Given the description of an element on the screen output the (x, y) to click on. 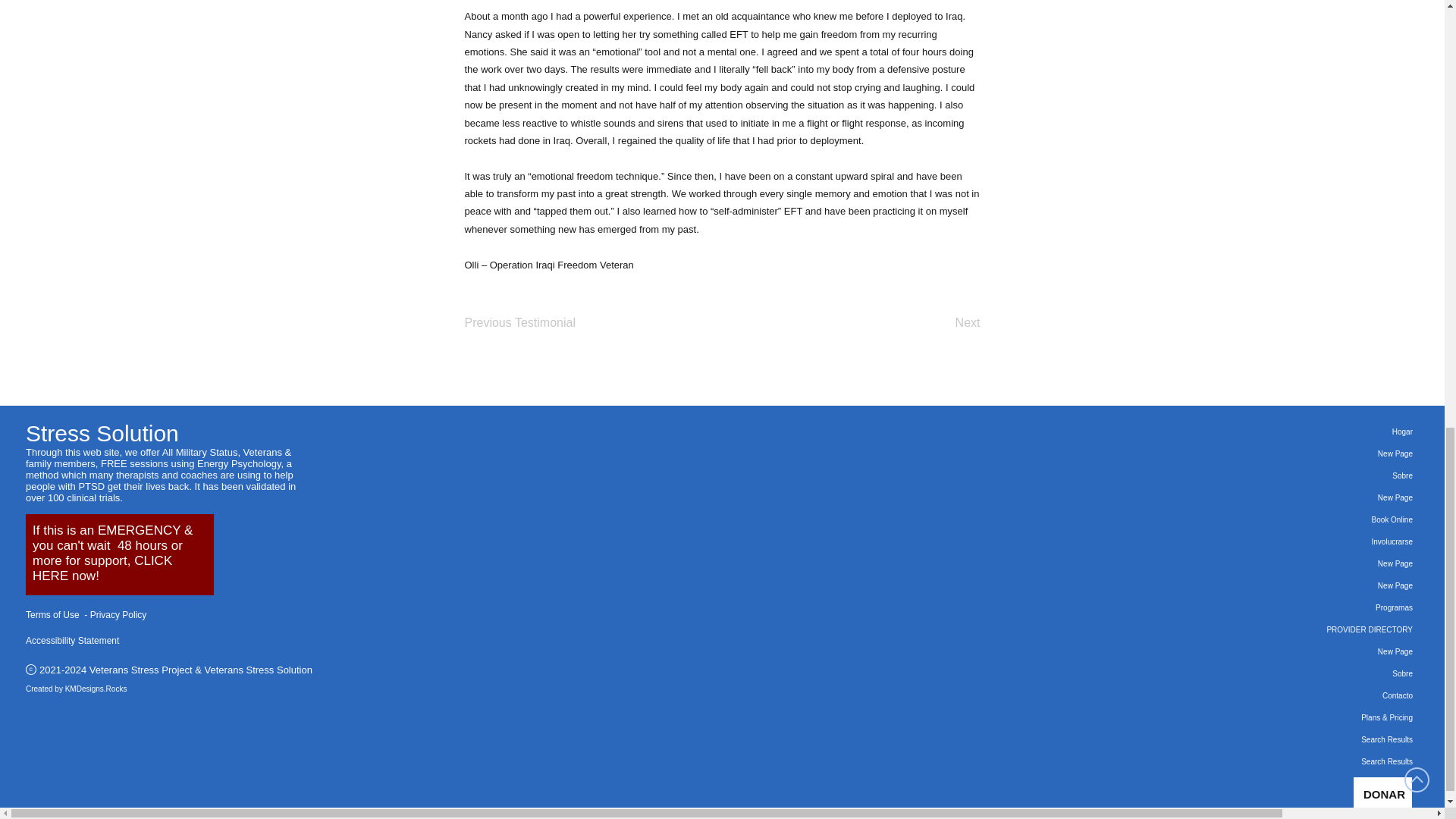
Hogar (1310, 431)
New Page (1310, 497)
Search Results (1310, 762)
New Page (1310, 585)
Contacto (1310, 695)
New Page (1310, 454)
Search Results (1310, 739)
Stress Solution (102, 432)
Sobre (1310, 475)
PROVIDER DIRECTORY (1310, 629)
